Given the description of an element on the screen output the (x, y) to click on. 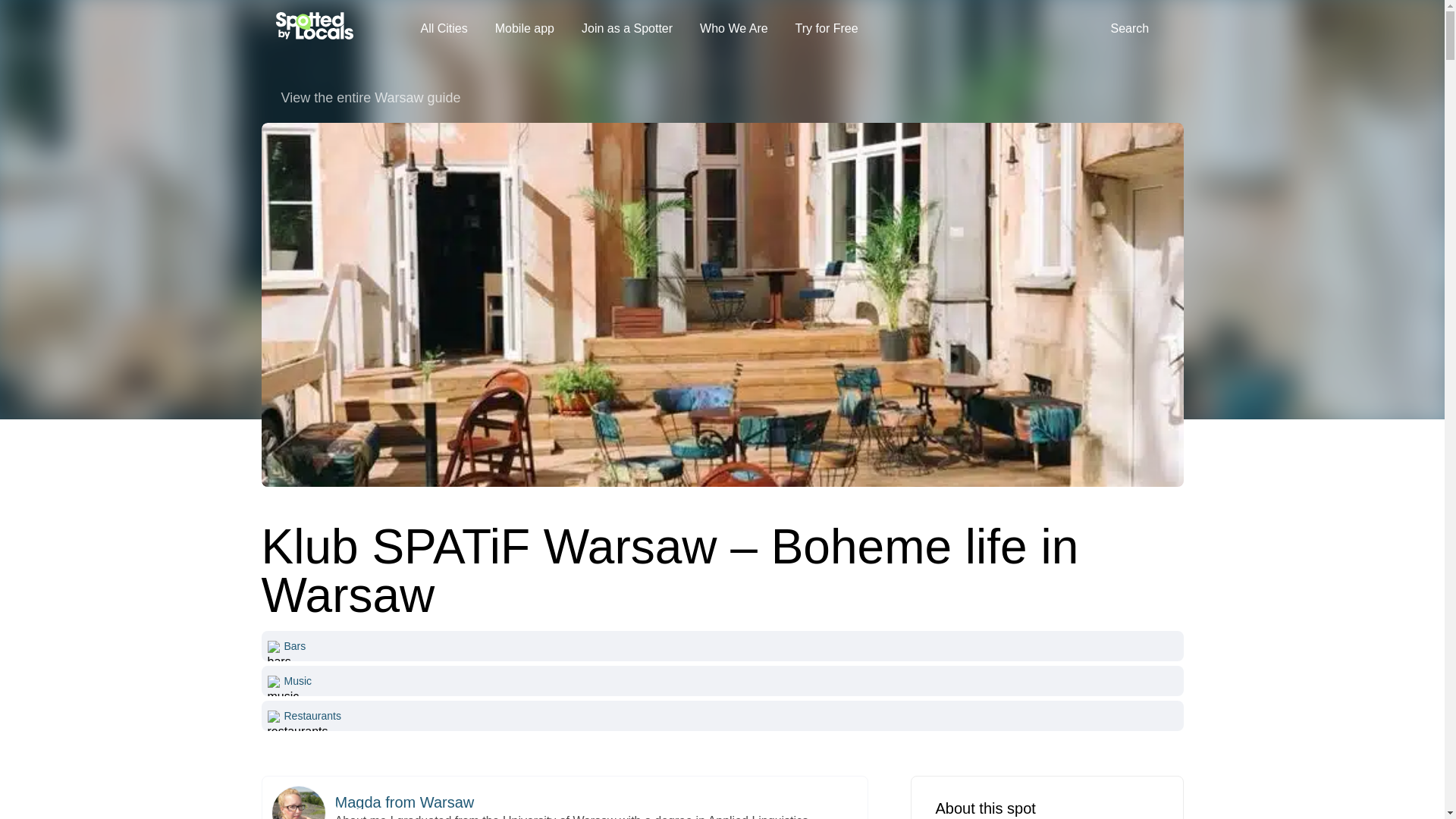
View the entire Warsaw guide (721, 97)
Who We Are (734, 28)
Try for Free (826, 28)
All Cities (443, 28)
Mobile app (524, 28)
Join as a Spotter (626, 28)
